Given the description of an element on the screen output the (x, y) to click on. 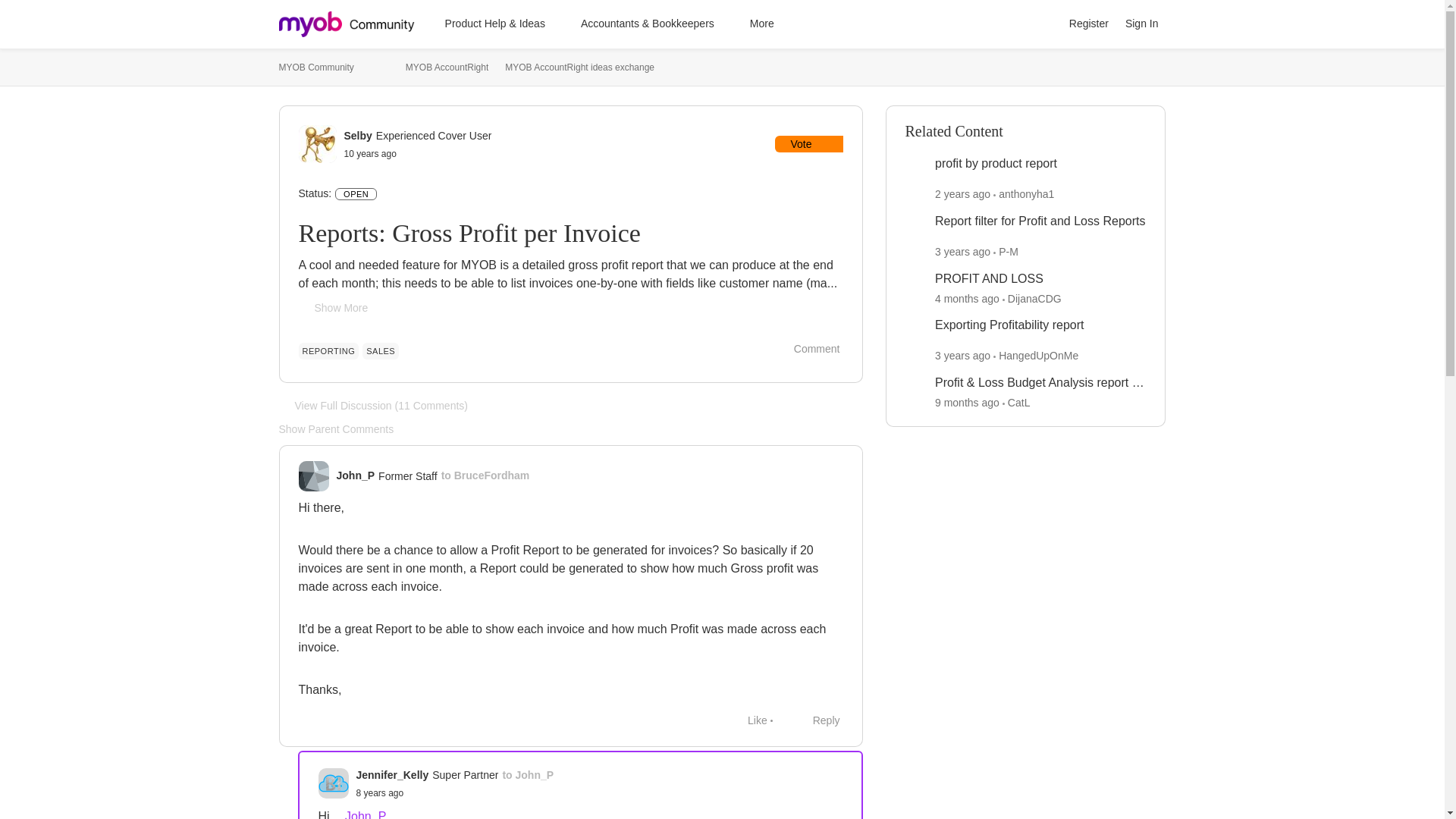
Sign In (1142, 23)
to BruceFordham (485, 475)
Search (1043, 24)
Vote (808, 143)
Register (1088, 23)
More (768, 23)
July 7, 2022 at 11:09 PM (962, 251)
August 12, 2016 at 4:29 AM (380, 792)
Report filter for Profit and Loss Reports (1039, 221)
November 9, 2023 at 2:59 AM (966, 402)
March 30, 2015 at 1:14 AM (369, 153)
April 11, 2023 at 10:58 PM (962, 193)
MYOB AccountRight (446, 66)
August 3, 2021 at 10:46 PM (962, 355)
MYOB AccountRight ideas exchange (579, 66)
